Given the description of an element on the screen output the (x, y) to click on. 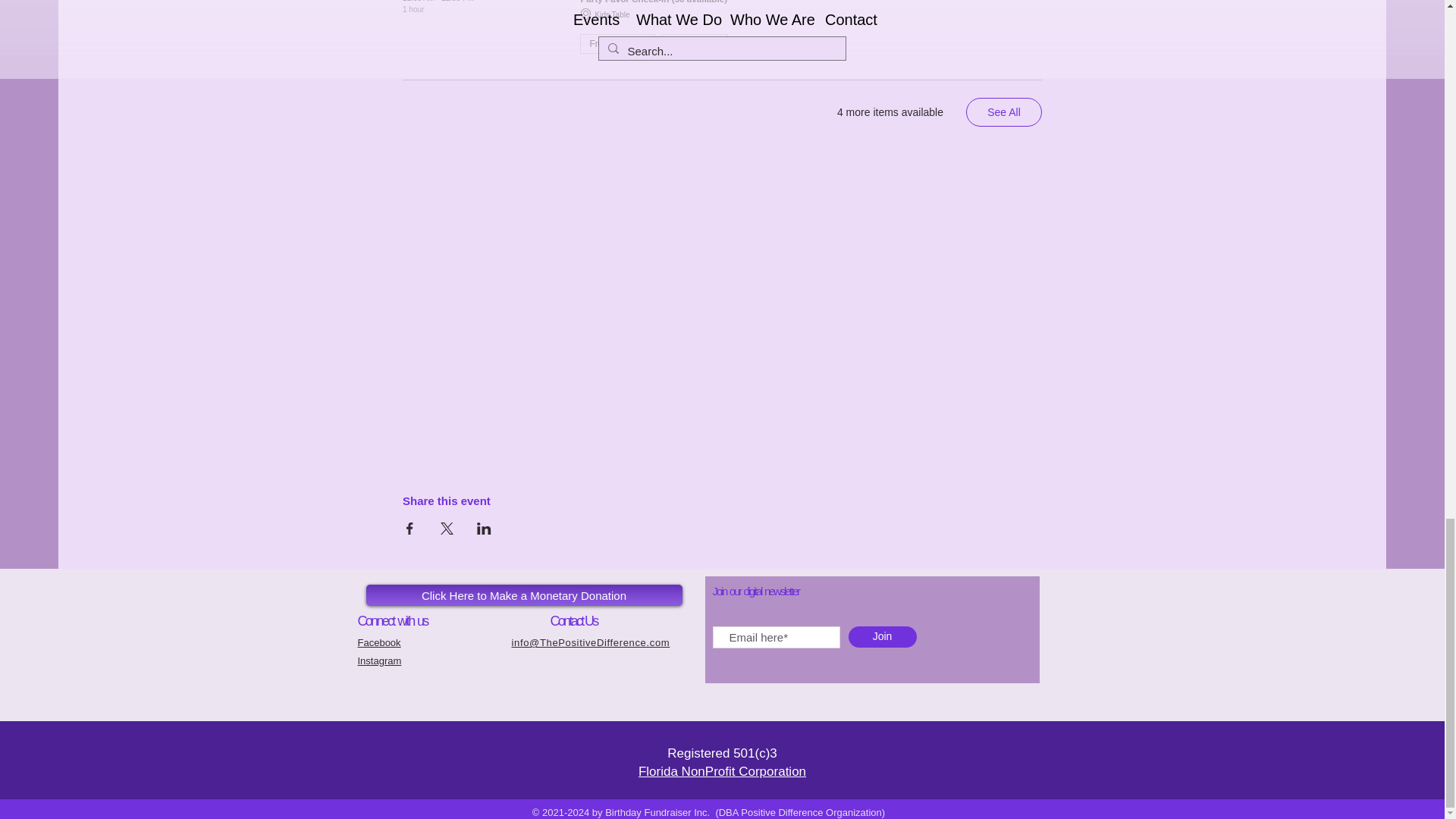
Instagram (379, 660)
See All (1004, 111)
Click Here to Make a Monetary Donation (523, 595)
Facebook (379, 642)
Join (881, 636)
Florida NonProfit Corporation (722, 771)
